Given the description of an element on the screen output the (x, y) to click on. 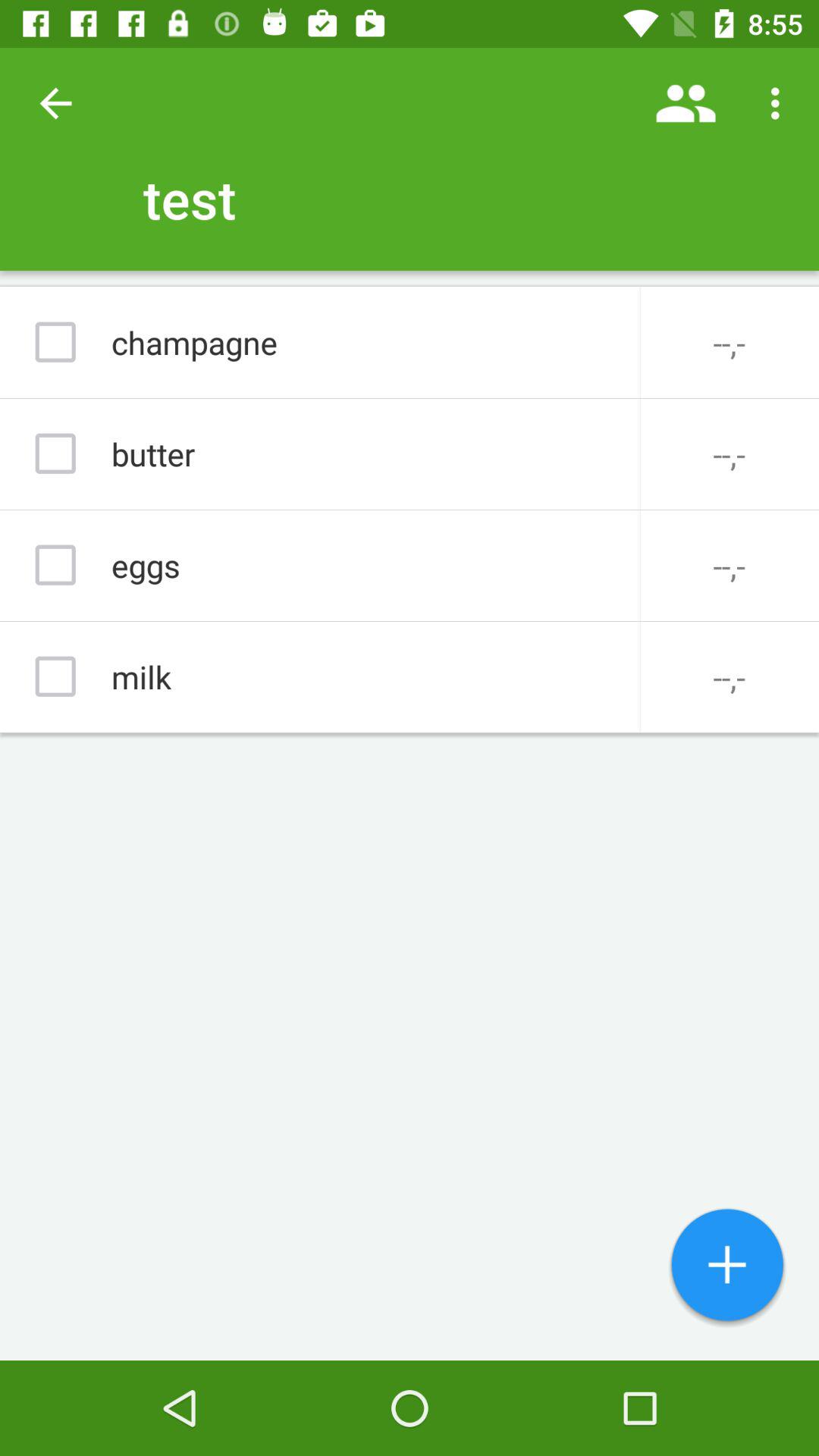
select item to the left of the test (55, 103)
